Given the description of an element on the screen output the (x, y) to click on. 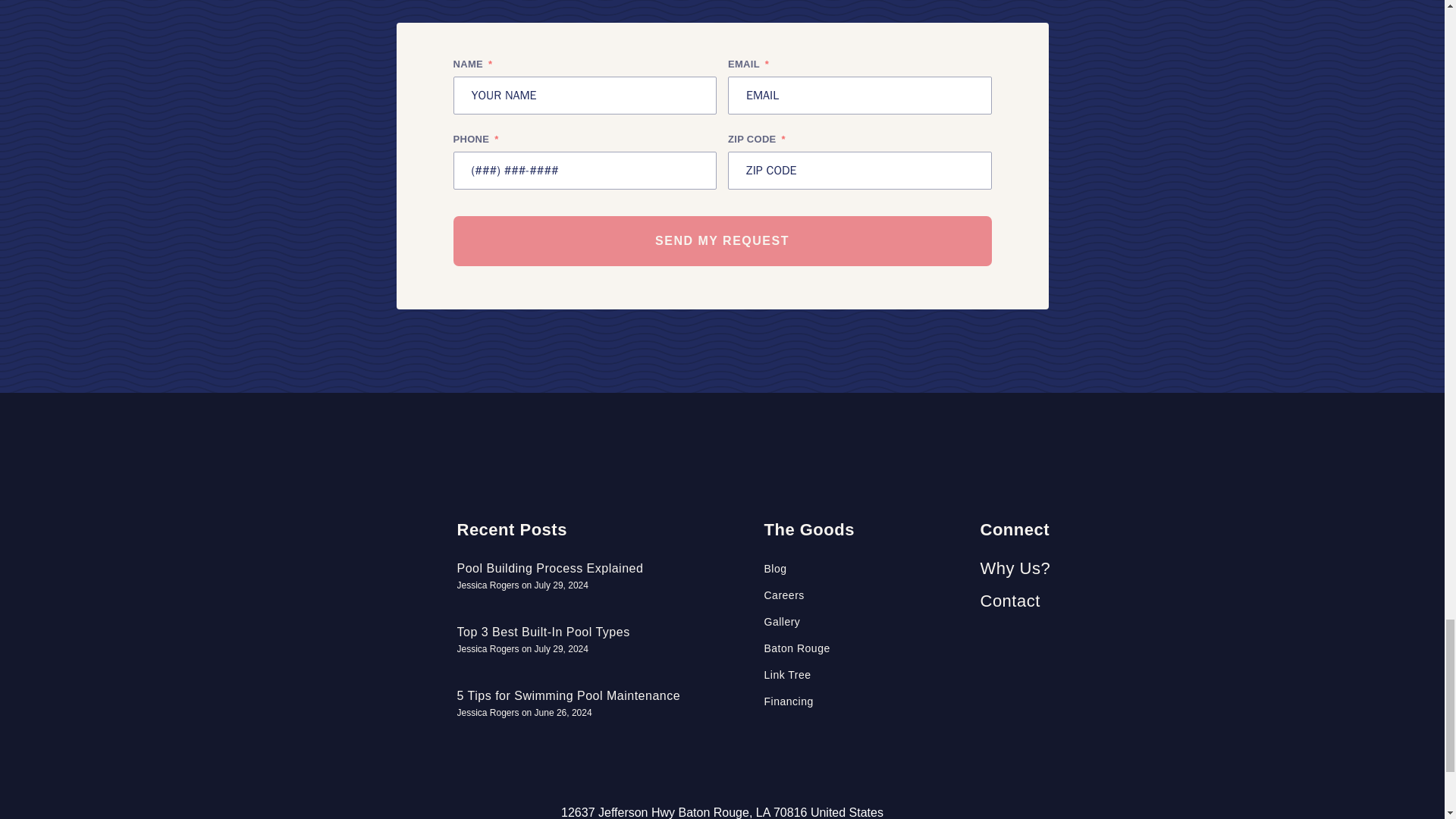
Financing (864, 701)
Gallery (864, 621)
Careers (864, 595)
Blog (864, 568)
Top 3 Best Built-In Pool Types (542, 631)
Link Tree (864, 674)
Pool Building Process Explained (550, 567)
SEND MY REQUEST (721, 241)
5 Tips for Swimming Pool Maintenance (568, 695)
Baton Rouge (864, 648)
